Given the description of an element on the screen output the (x, y) to click on. 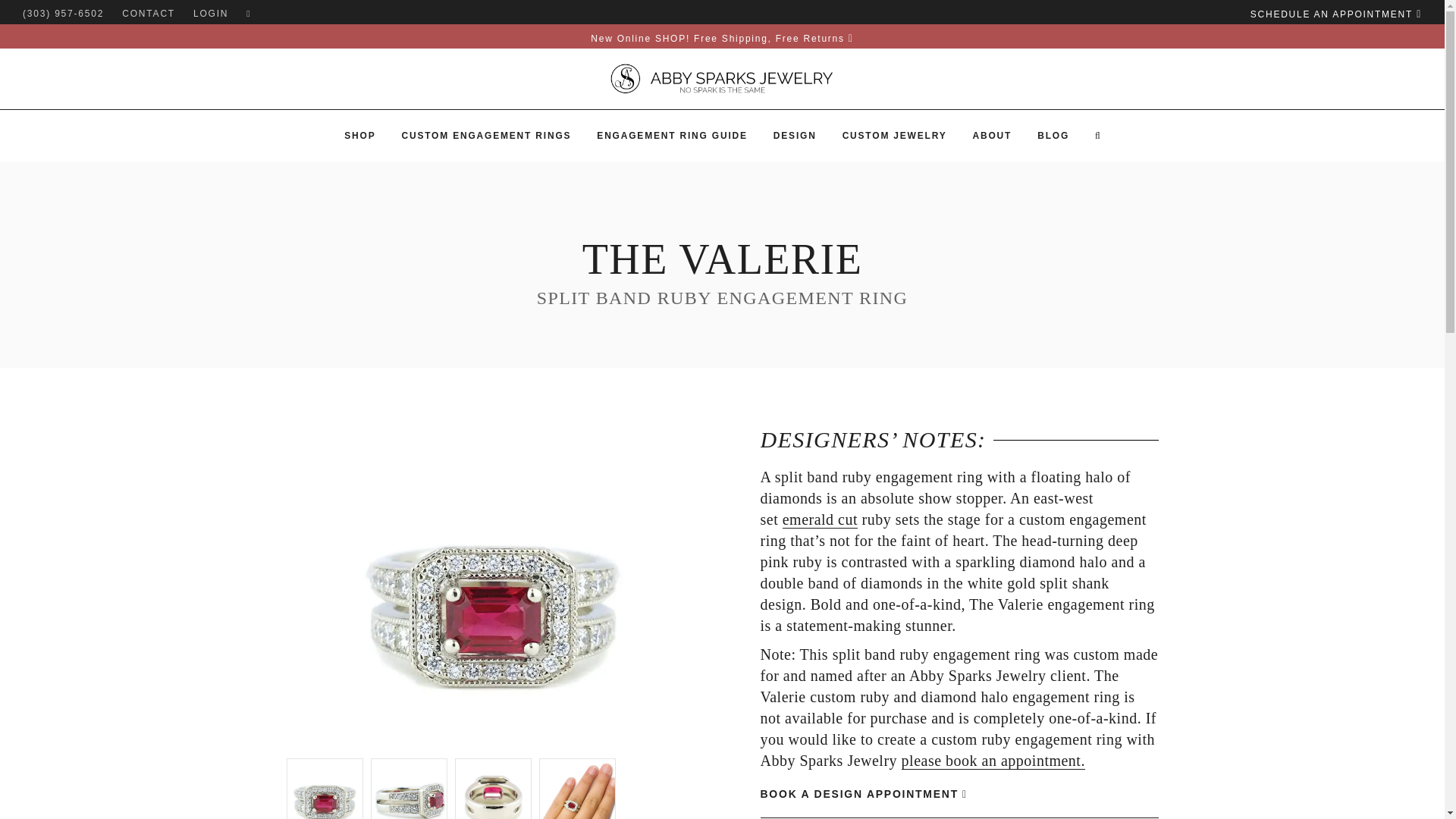
ENGAGEMENT RING GUIDE (671, 135)
CONTACT (148, 12)
Shop (360, 135)
DESIGN (794, 135)
Custom Engagement Rings (486, 135)
New Online SHOP! Free Shipping, Free Returns (722, 38)
Login (210, 12)
LOGIN (210, 12)
SHOP (360, 135)
Engagement Ring Guide (671, 135)
